Given the description of an element on the screen output the (x, y) to click on. 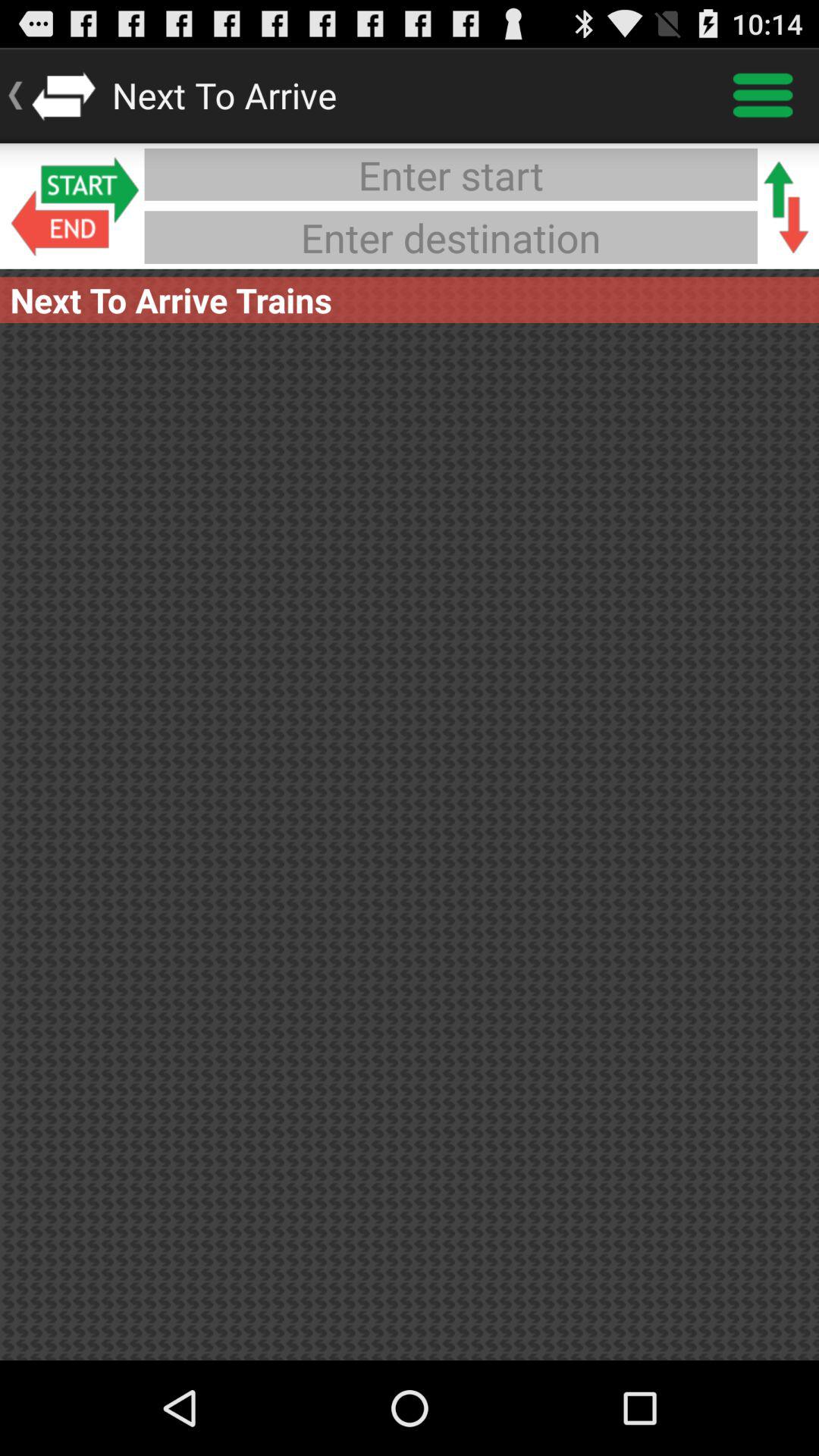
launch the item next to the next to arrive app (763, 95)
